Given the description of an element on the screen output the (x, y) to click on. 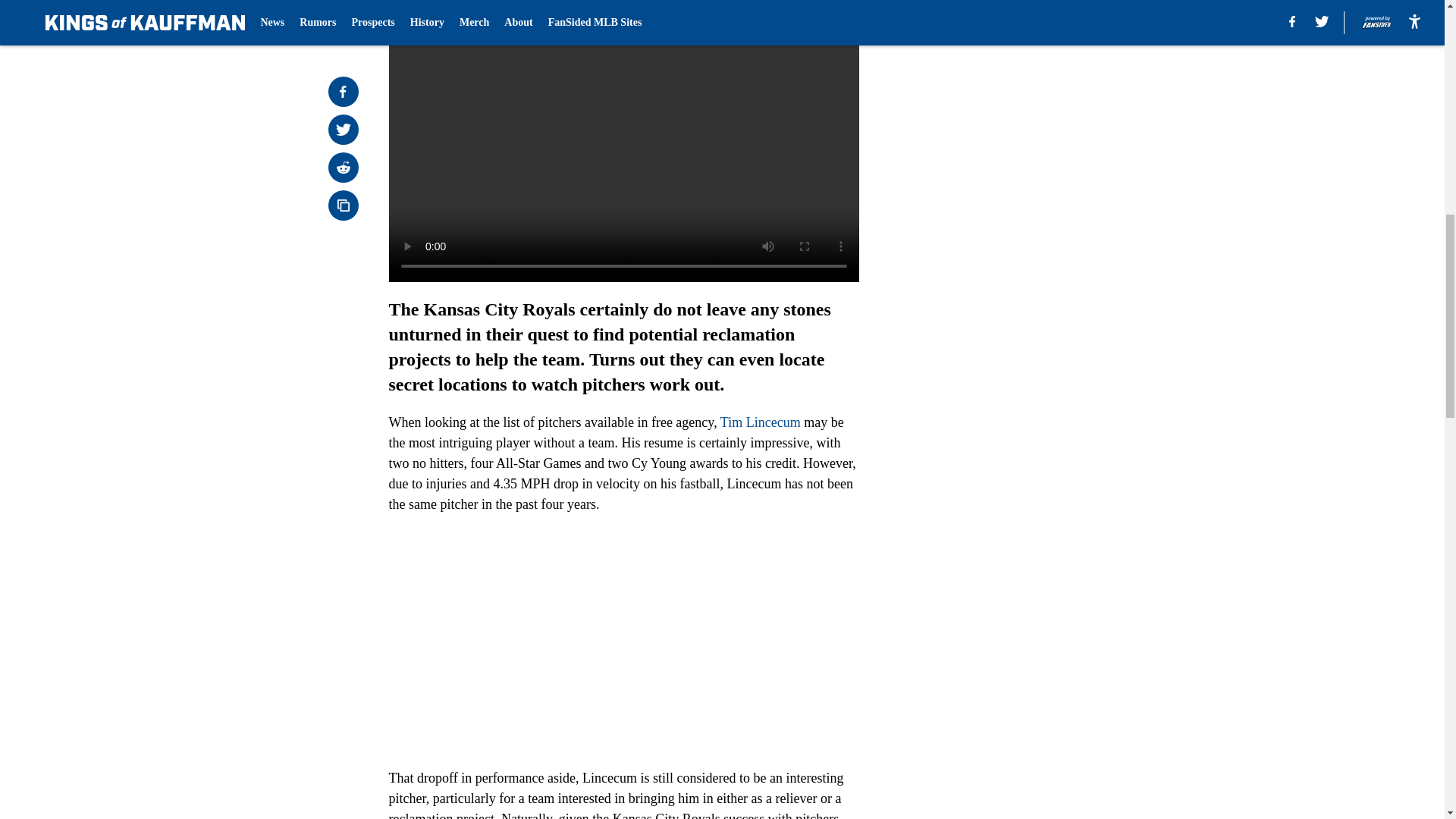
Tim Lincecum (760, 421)
3rd party ad content (1047, 113)
3rd party ad content (1047, 332)
